Given the description of an element on the screen output the (x, y) to click on. 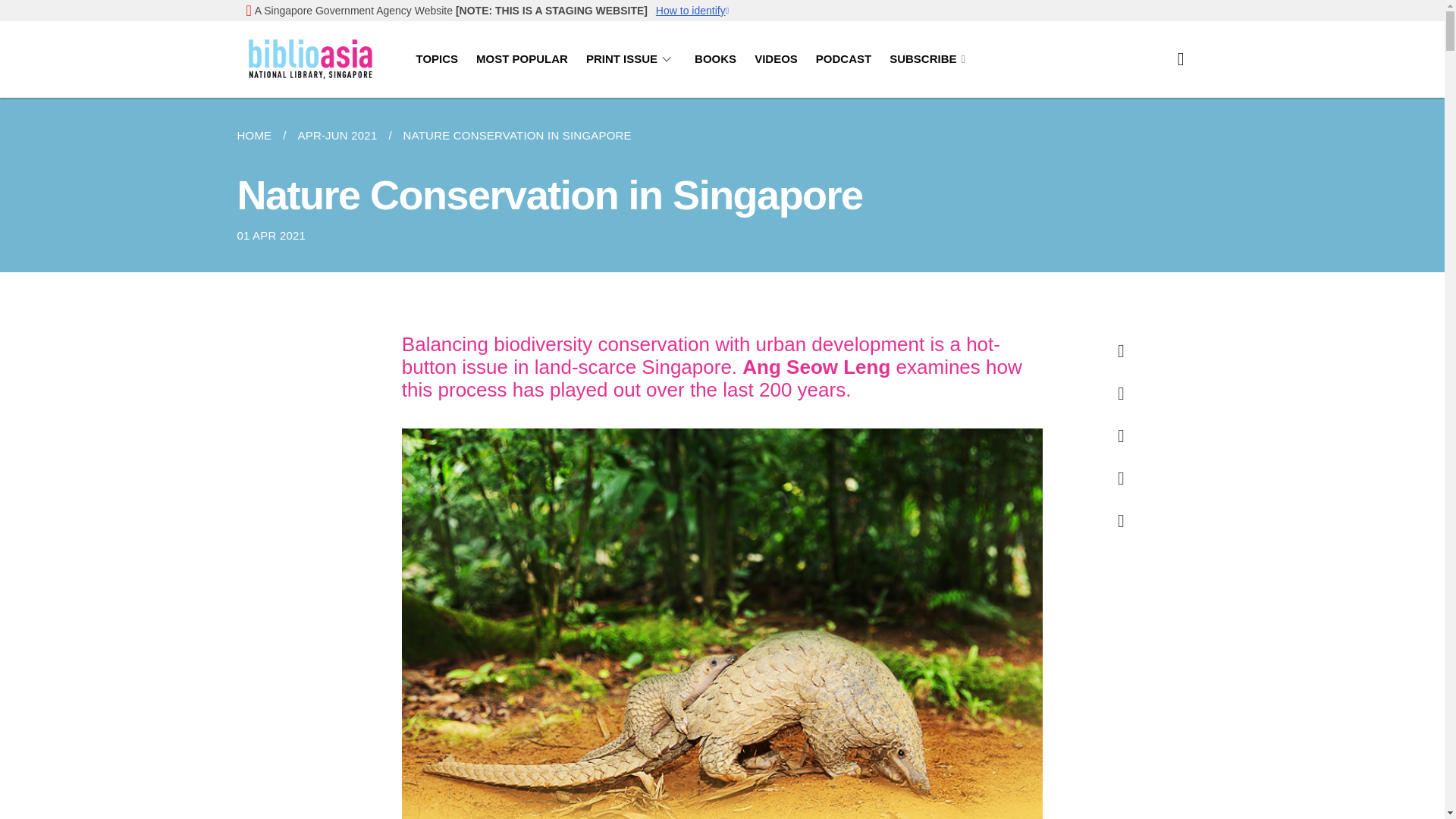
SUBSCRIBE (927, 59)
MOST POPULAR (521, 59)
PRINT ISSUE (631, 59)
NATURE CONSERVATION IN SINGAPORE (517, 135)
HOME (258, 135)
APR-JUN 2021 (336, 135)
